Given the description of an element on the screen output the (x, y) to click on. 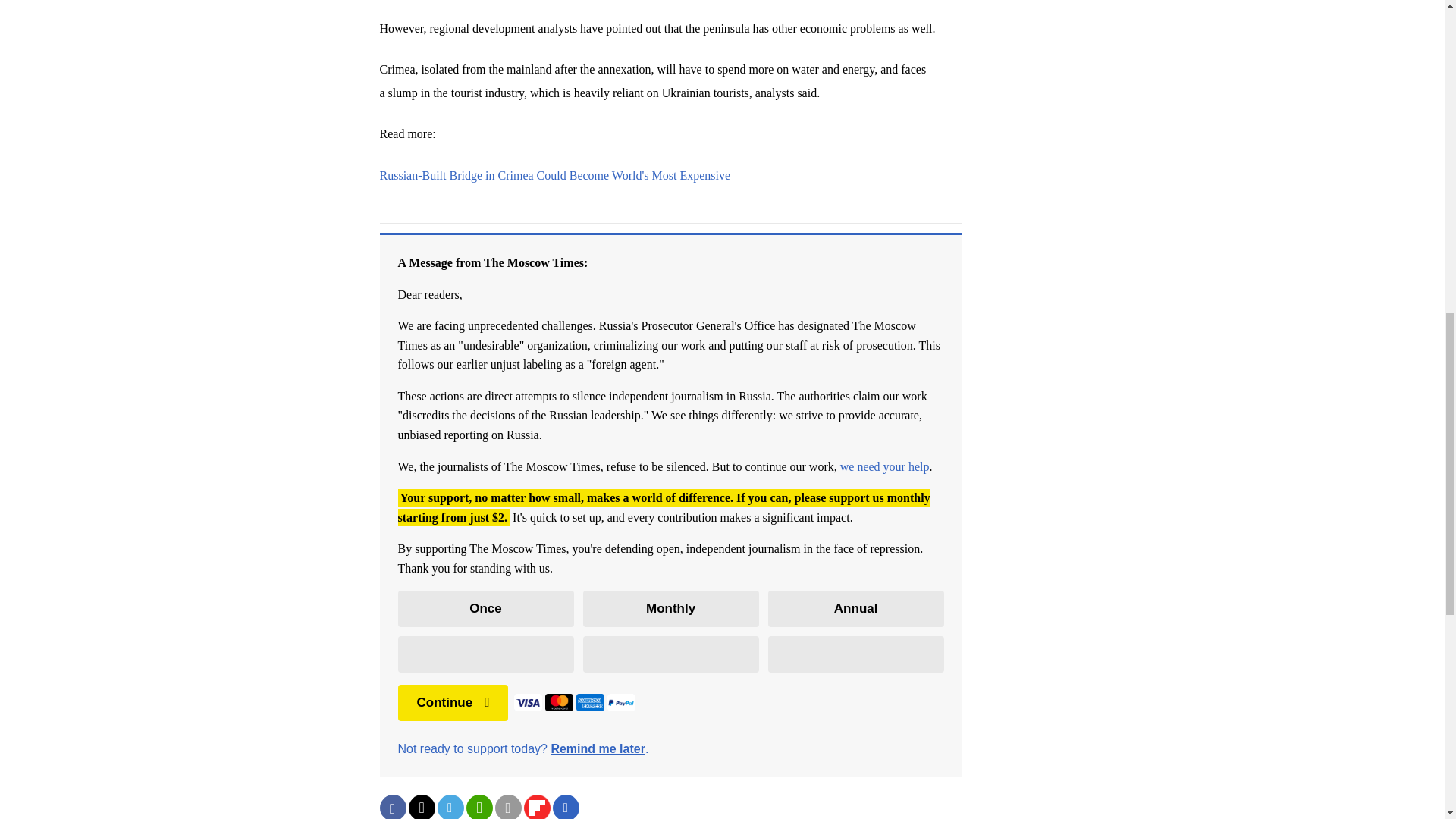
Share on Facebook (392, 806)
we need your help (885, 466)
Share on Telegram (449, 806)
Share on Twitter (420, 806)
Share on Flipboard (536, 806)
